Given the description of an element on the screen output the (x, y) to click on. 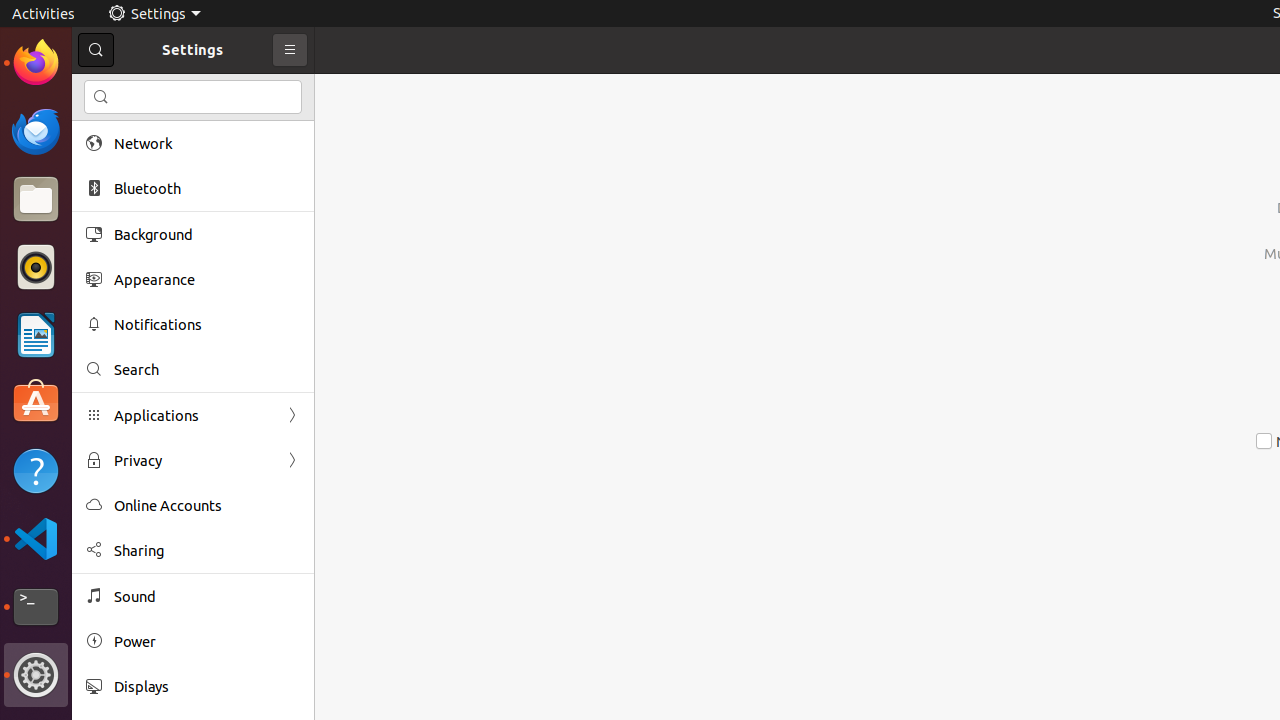
Power Element type: label (207, 641)
Forward Element type: icon (292, 460)
Background Element type: label (207, 234)
Applications Element type: label (193, 415)
